Given the description of an element on the screen output the (x, y) to click on. 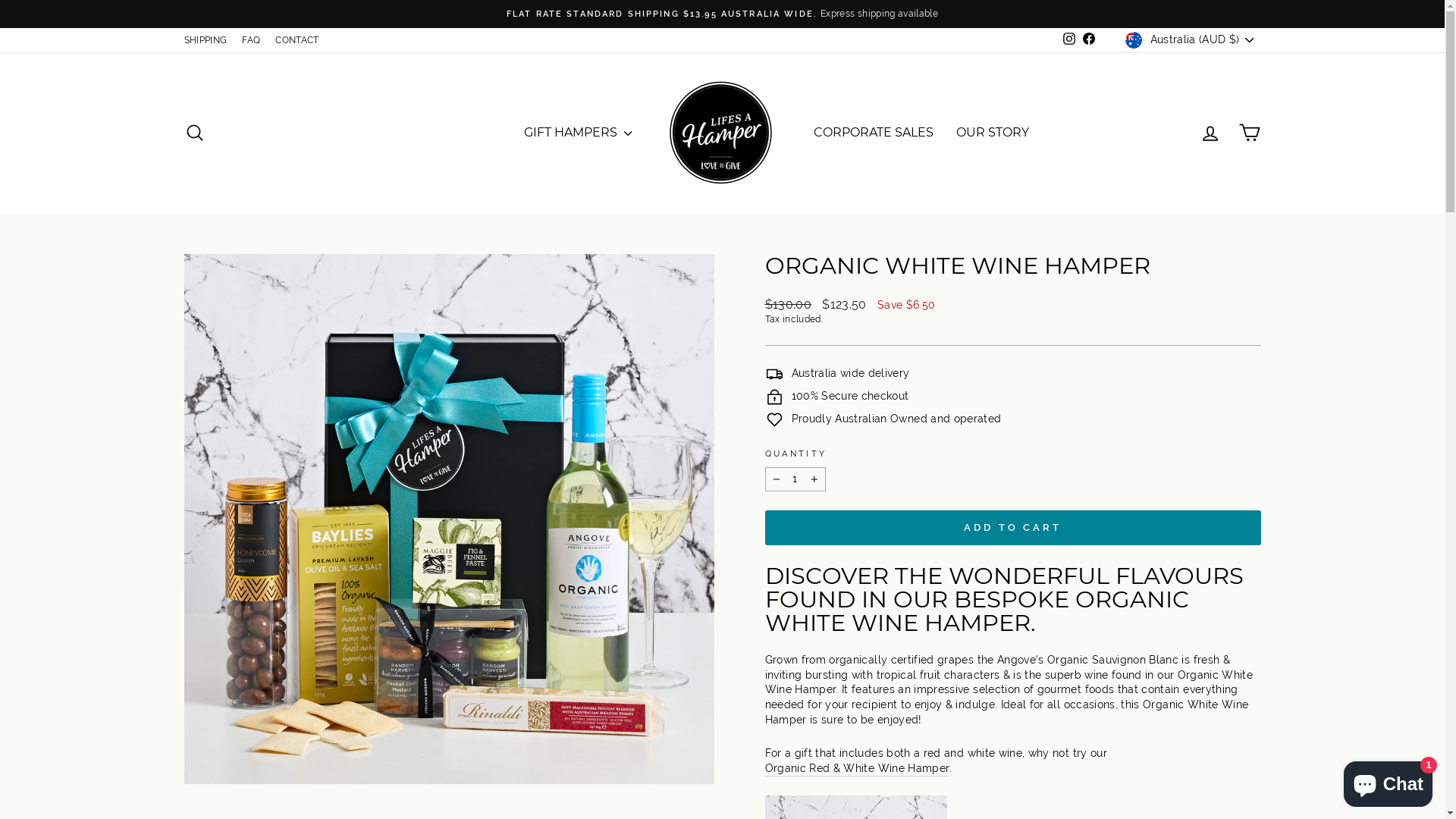
ADD TO CART Element type: text (1012, 527)
SHIPPING Element type: text (204, 40)
Australia (AUD $) Element type: text (1190, 40)
OUR STORY Element type: text (992, 132)
+ Element type: text (813, 479)
Organic Red & White Wine Hamper Element type: text (856, 769)
Facebook Element type: text (1088, 39)
CONTACT Element type: text (296, 40)
Shopify online store chat Element type: hover (1388, 780)
CORPORATE SALES Element type: text (873, 132)
ACCOUNT
LOG IN Element type: text (1210, 132)
ICON-SEARCH
SEARCH Element type: text (193, 132)
CART Element type: text (1249, 132)
instagram
Instagram Element type: text (1069, 39)
FAQ Element type: text (250, 40)
